Given the description of an element on the screen output the (x, y) to click on. 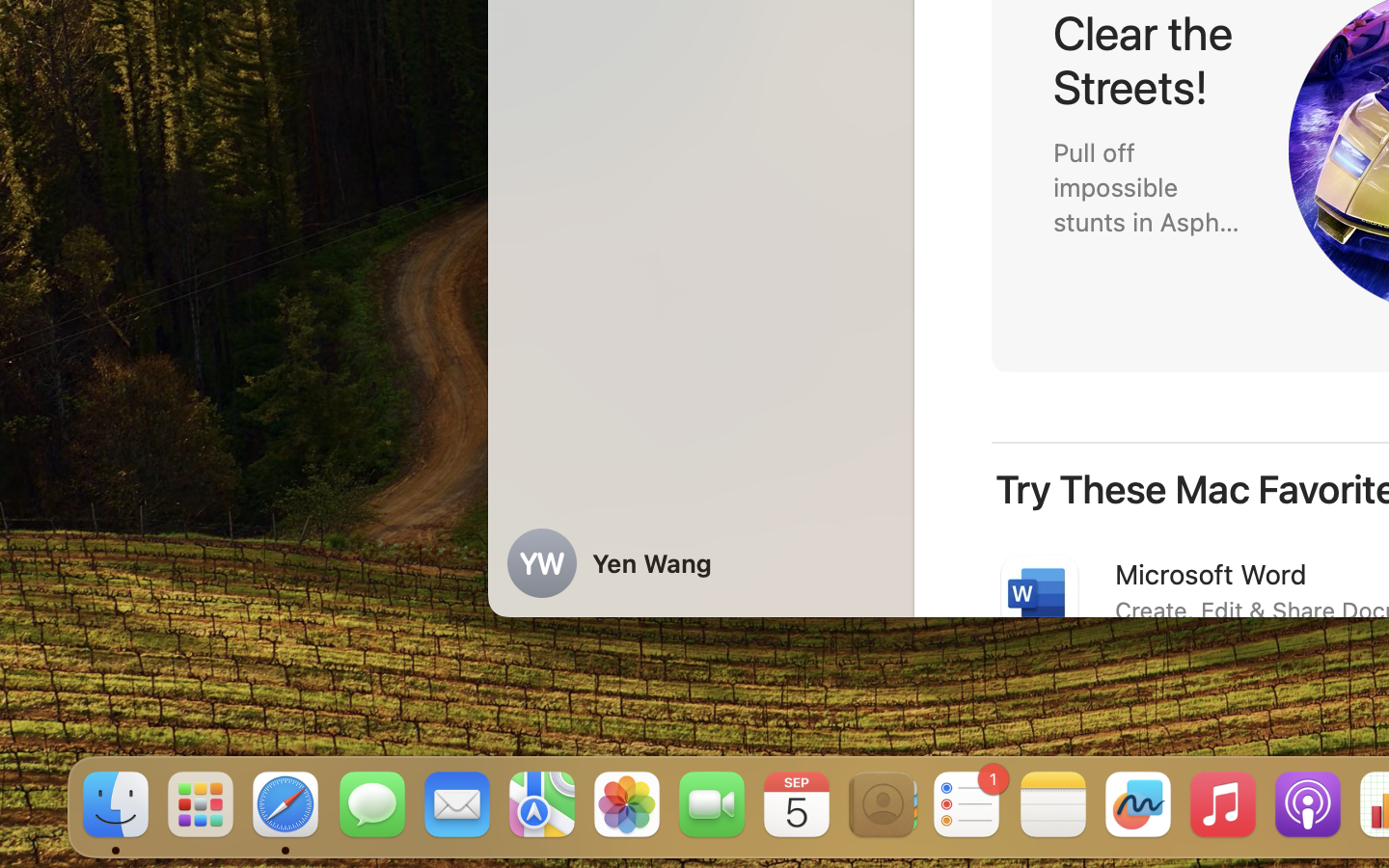
Clear the Streets! Element type: AXStaticText (1148, 59)
Yen Wang Element type: AXButton (700, 563)
